Given the description of an element on the screen output the (x, y) to click on. 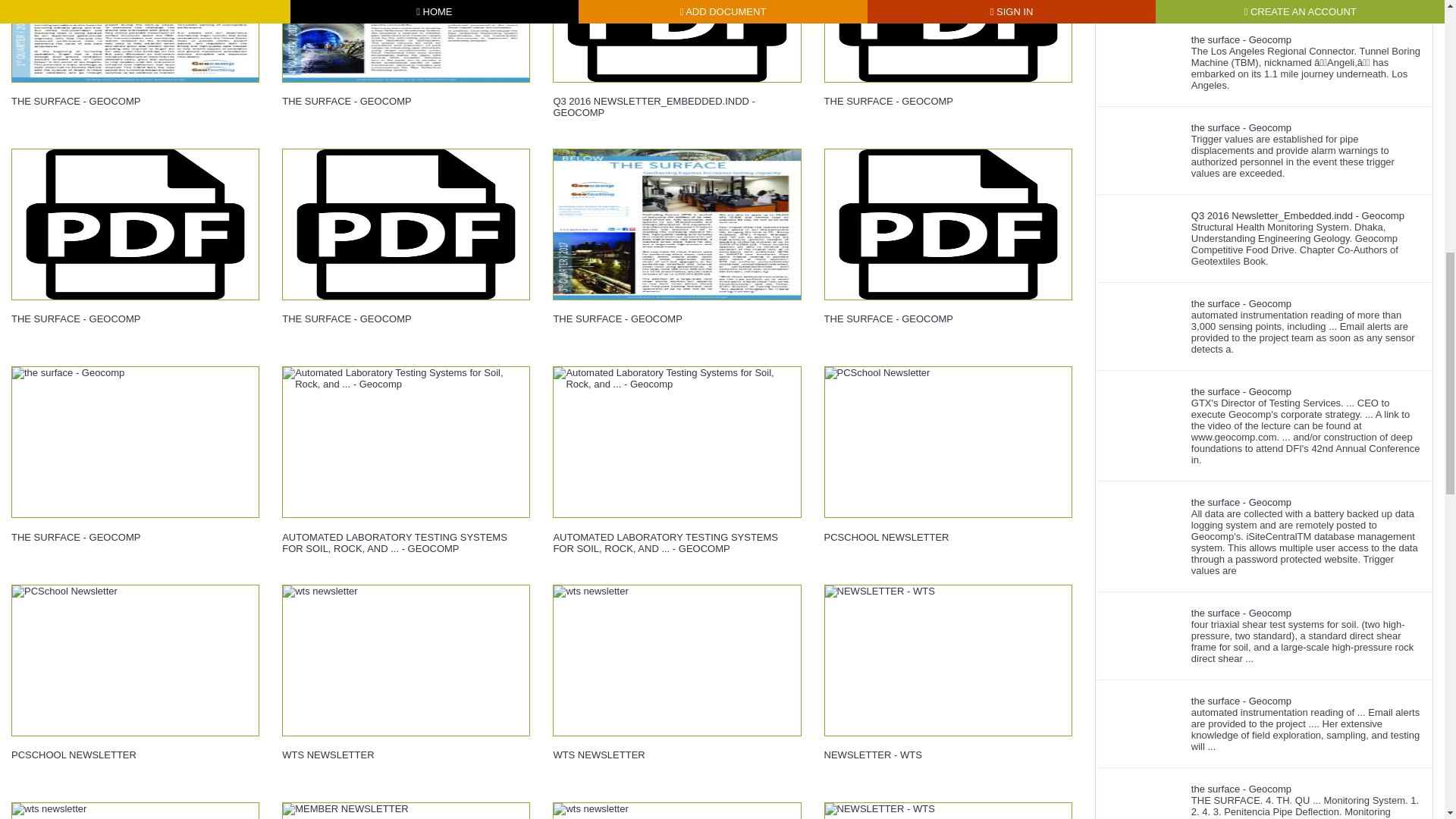
PCSCHOOL NEWSLETTER (947, 467)
THE SURFACE - GEOCOMP (405, 249)
MEMBER NEWSLETTER (405, 810)
WTS NEWSLETTER (405, 685)
NEWSLETTER - WTS (947, 810)
THE SURFACE - GEOCOMP (947, 249)
WTS NEWSLETTER (135, 810)
THE SURFACE - GEOCOMP (405, 66)
WTS NEWSLETTER (676, 810)
PCSCHOOL NEWSLETTER (135, 685)
